Given the description of an element on the screen output the (x, y) to click on. 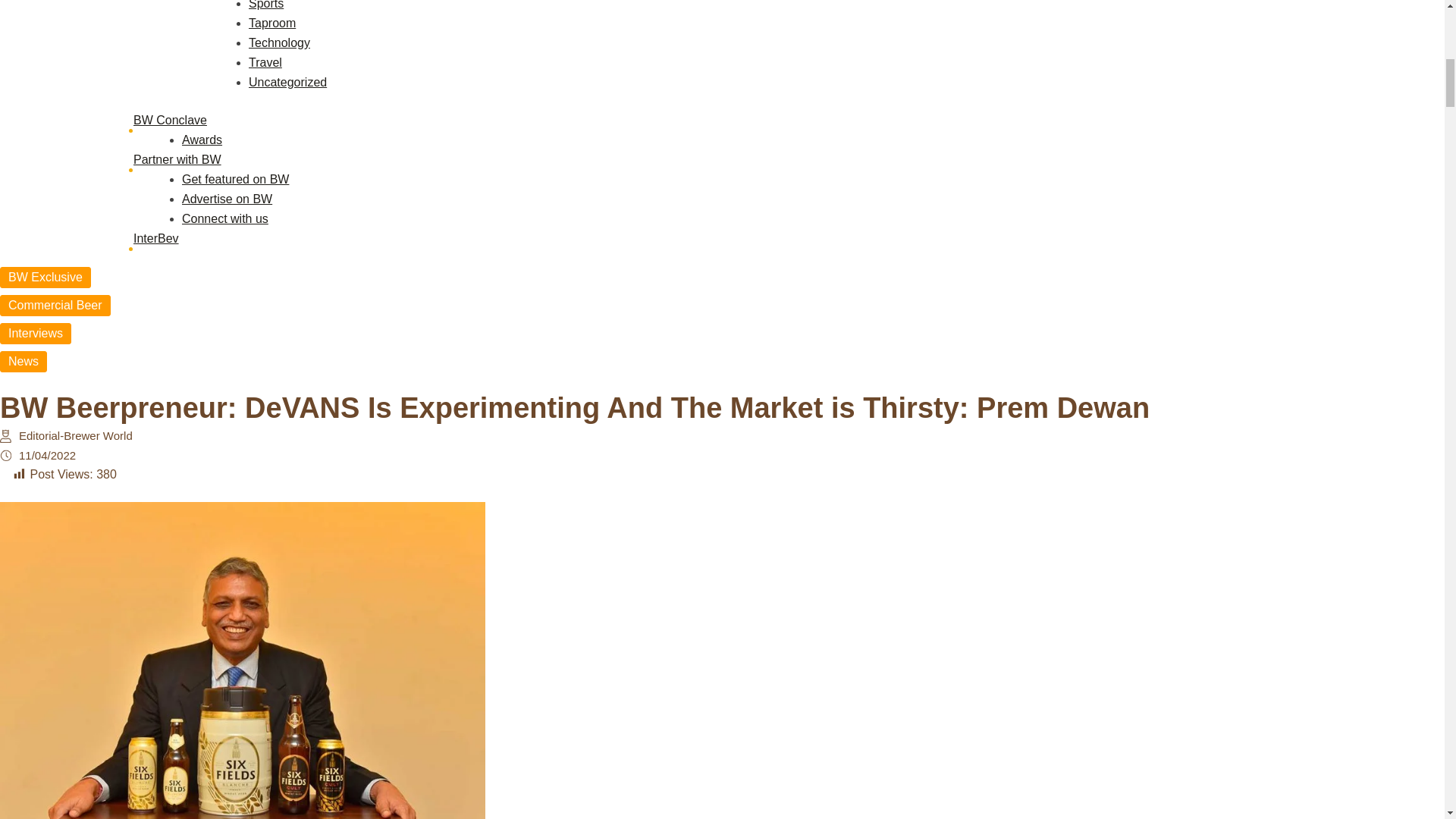
Sports (265, 4)
Taproom (271, 22)
Technology (279, 42)
